Given the description of an element on the screen output the (x, y) to click on. 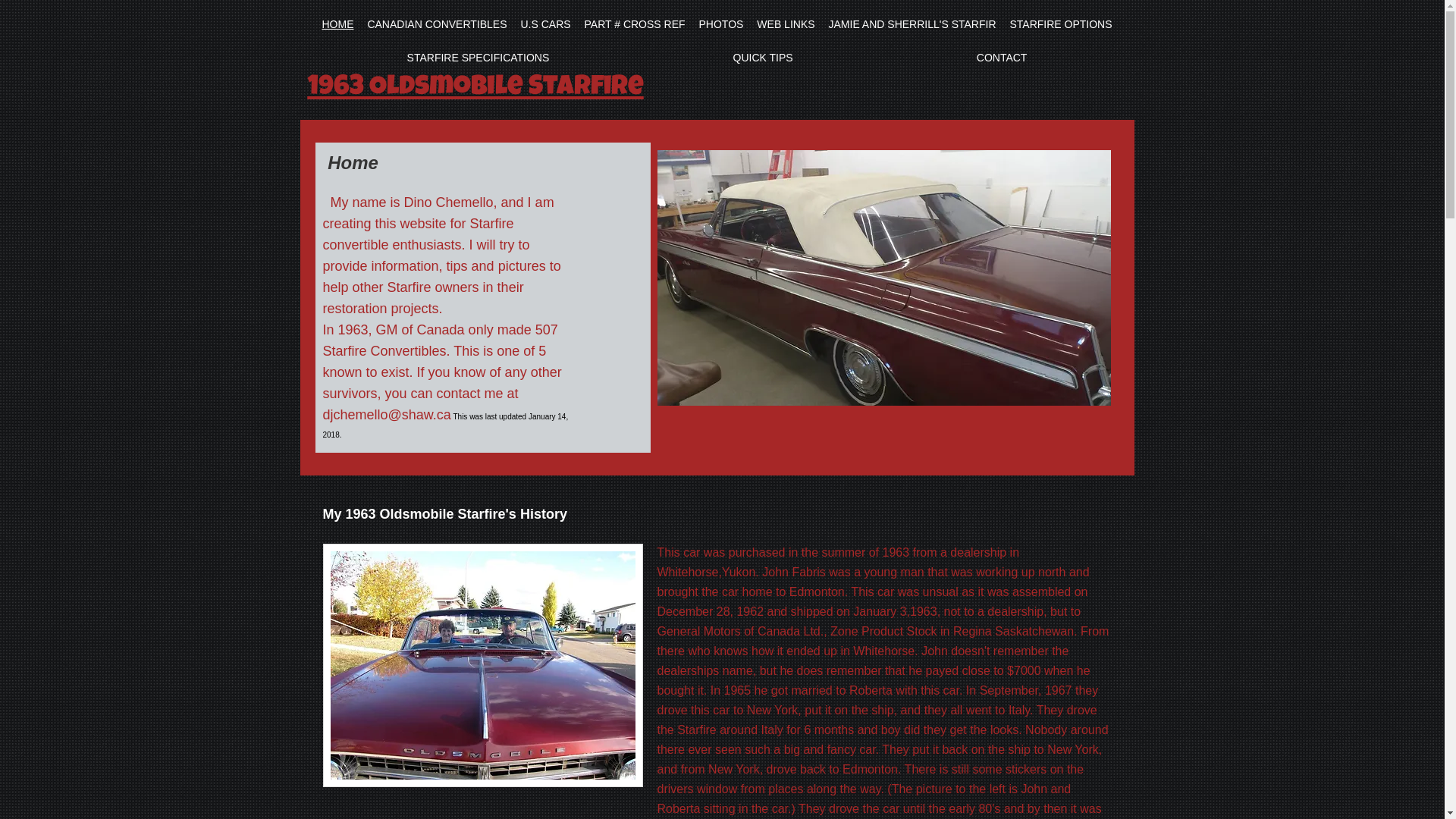
djchemello@shaw.ca Element type: text (387, 414)
CANADIAN CONVERTIBLES Element type: text (436, 23)
STARFIRE OPTIONS Element type: text (1060, 23)
JAMIE AND SHERRILL'S STARFIR Element type: text (912, 23)
PHOTOS Element type: text (721, 23)
WEB LINKS Element type: text (785, 23)
CONTACT Element type: text (1001, 57)
STARFIRE SPECIFICATIONS Element type: text (478, 57)
QUICK TIPS Element type: text (762, 57)
U.S CARS Element type: text (545, 23)
HOME Element type: text (337, 23)
PART # CROSS REF Element type: text (634, 23)
